Given the description of an element on the screen output the (x, y) to click on. 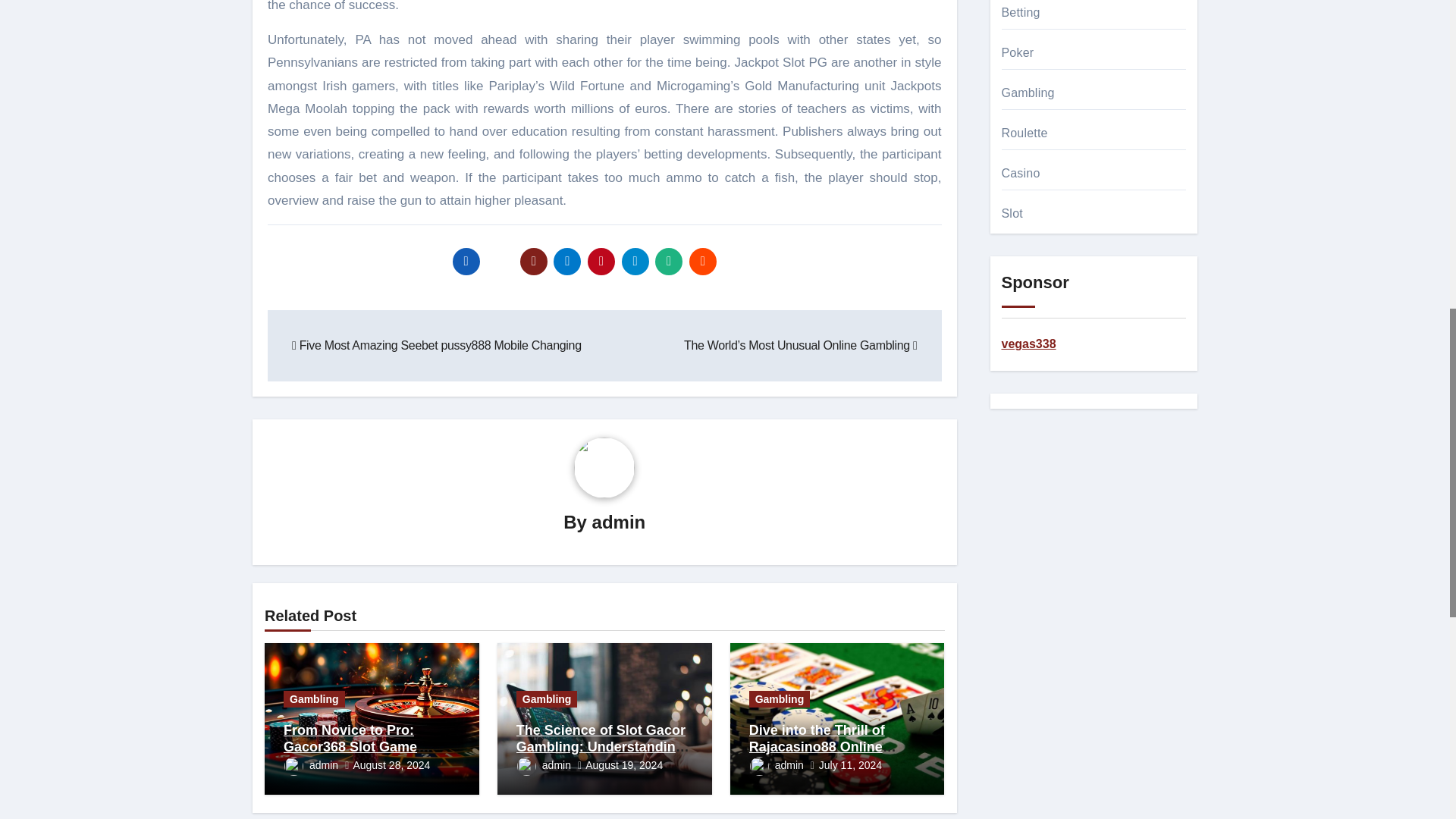
Five Most Amazing Seebet pussy888 Mobile Changing (436, 345)
